Given the description of an element on the screen output the (x, y) to click on. 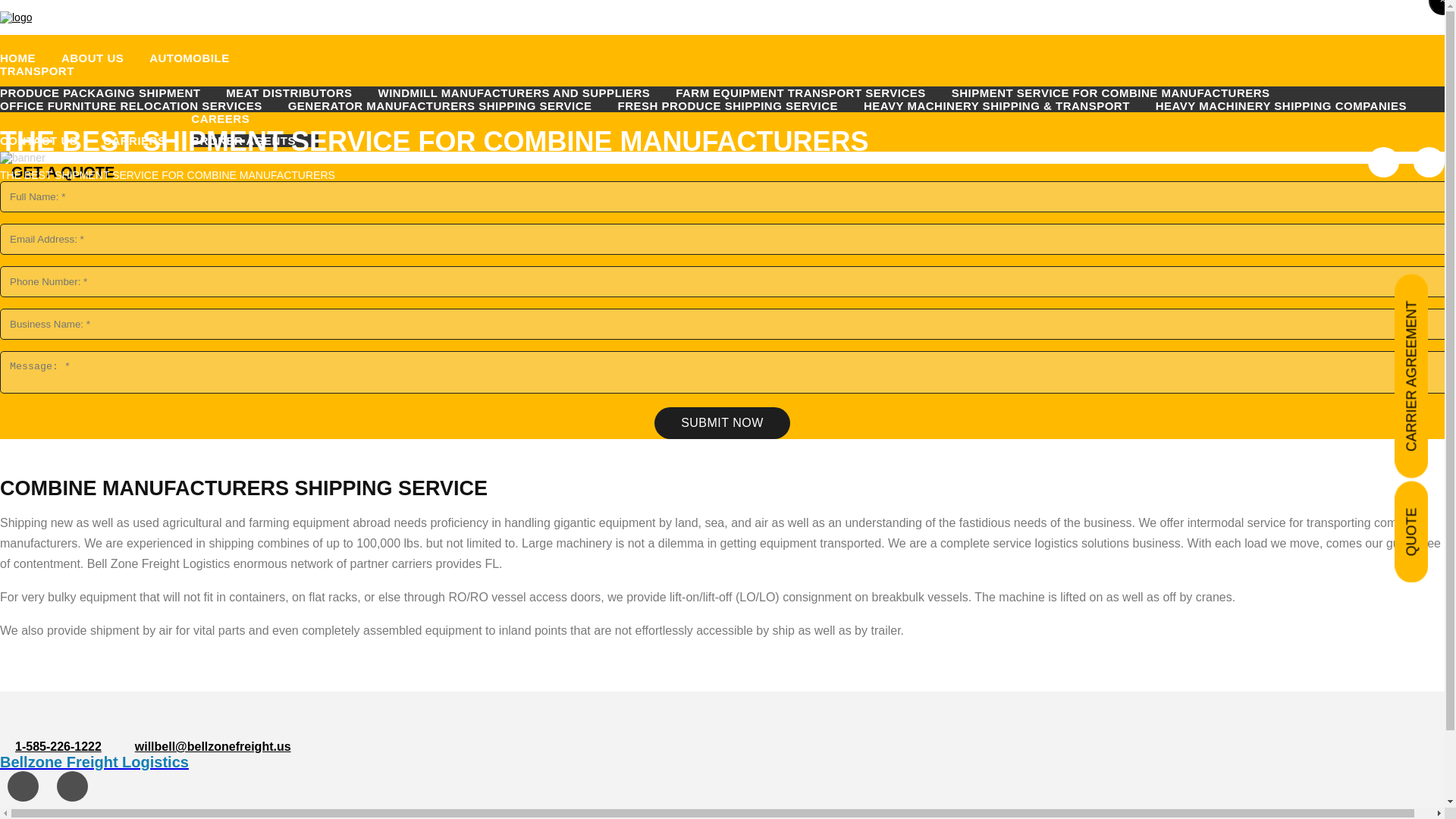
Click to Call (57, 746)
OFFICE FURNITURE RELOCATION SERVICES (142, 105)
AUTOMOBILE (200, 57)
PRODUCE PACKAGING SHIPMENT (111, 92)
BROKER AGENTS (254, 140)
1-585-226-1222 (57, 746)
FARM EQUIPMENT TRANSPORT SERVICES (812, 92)
Click to Send Mail (213, 746)
HOME (29, 57)
Bellzone Freight Logistics (722, 762)
GENERATOR MANUFACTURERS SHIPPING SERVICE (451, 105)
Facebook (23, 786)
SHIPMENT SERVICE FOR COMBINE MANUFACTURERS (1122, 92)
CAREERS (231, 118)
Linkedin (1428, 162)
